Given the description of an element on the screen output the (x, y) to click on. 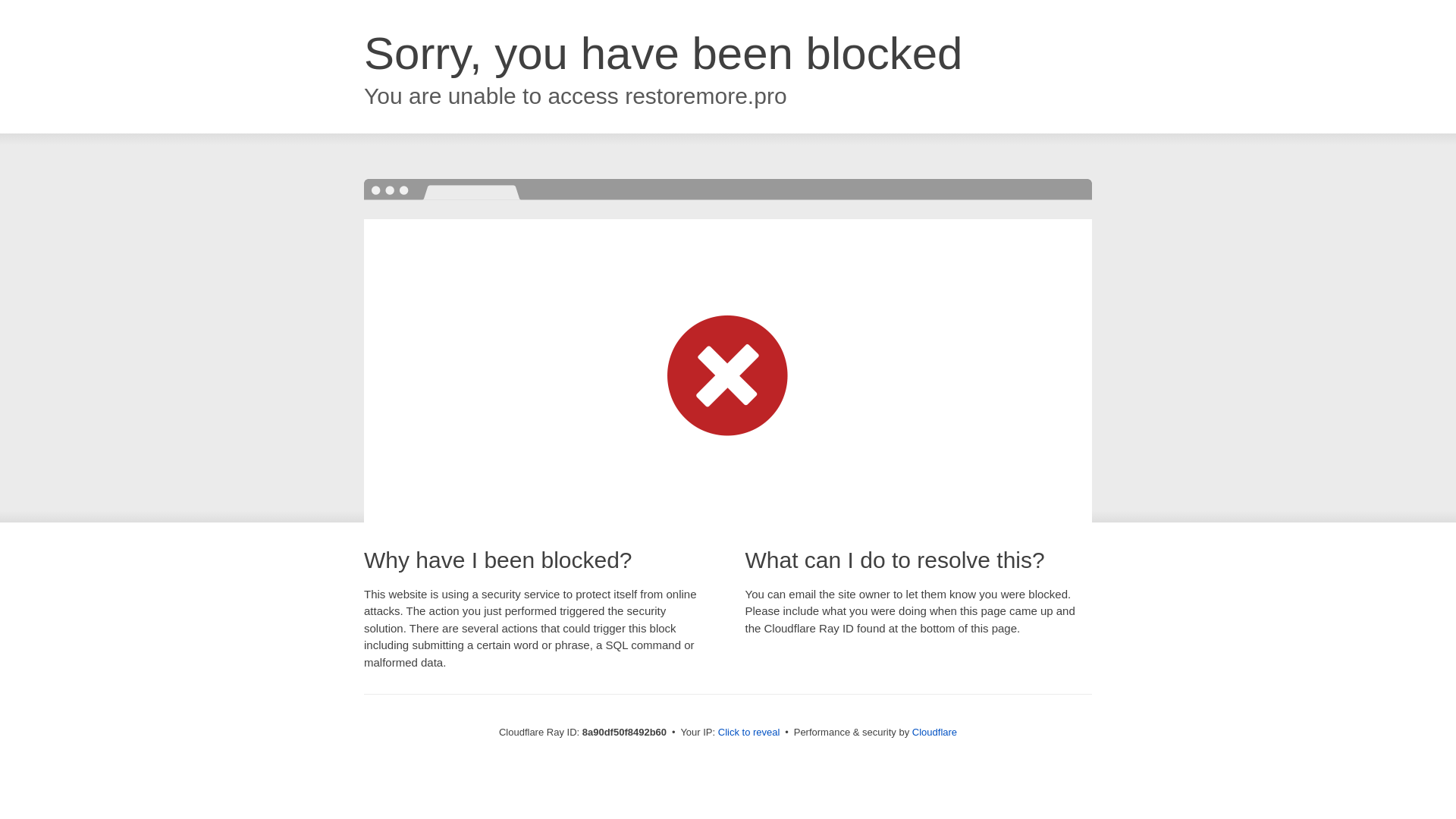
Click to reveal (748, 732)
Cloudflare (934, 731)
